Given the description of an element on the screen output the (x, y) to click on. 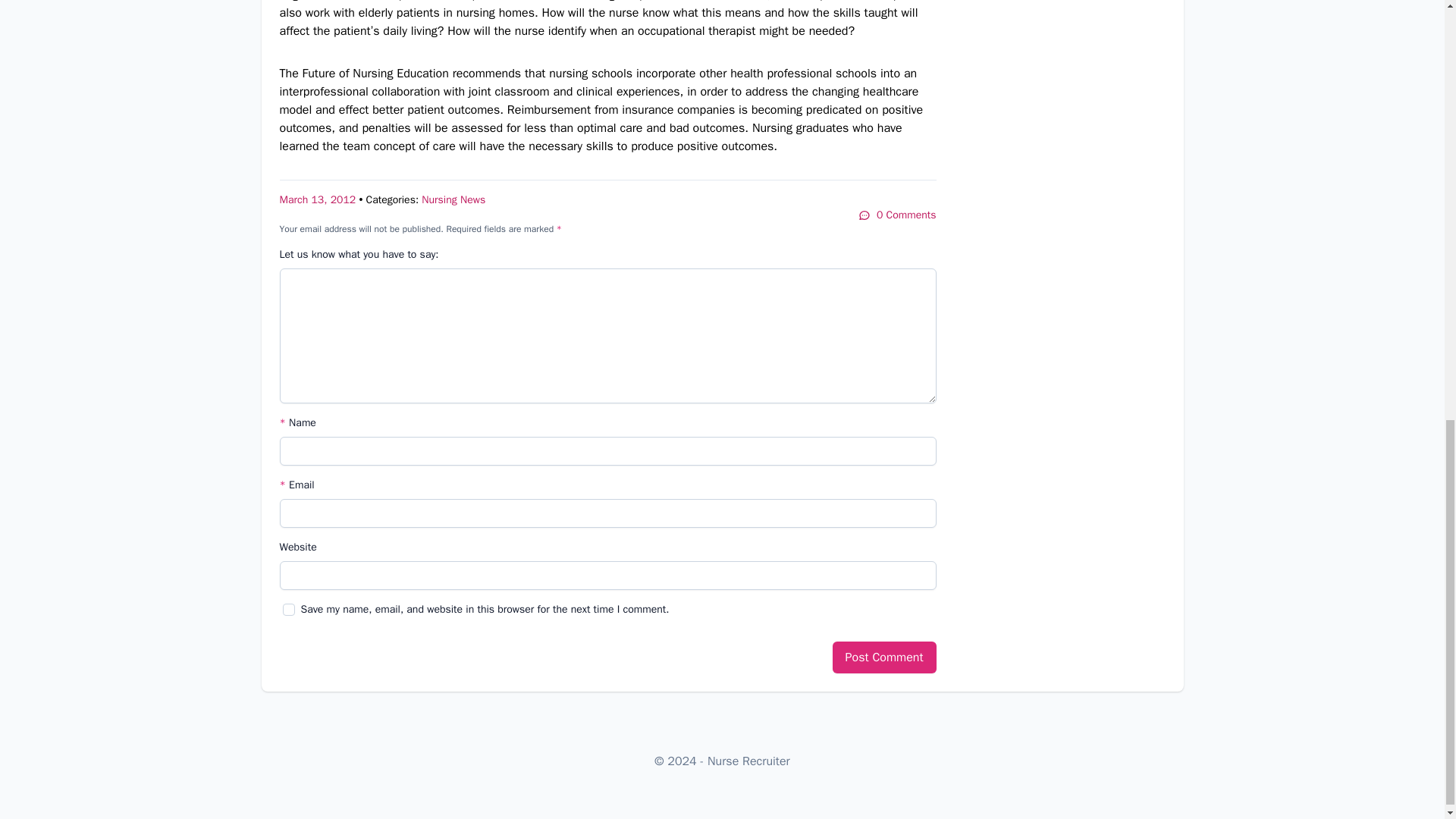
March 13, 2012 (317, 199)
Permalink to Changing the Face of Nursing Education (317, 199)
Nursing News (453, 199)
Go to comment section (897, 215)
yes (288, 609)
Post Comment (884, 657)
0 Comments (897, 215)
Post Comment (884, 657)
